Given the description of an element on the screen output the (x, y) to click on. 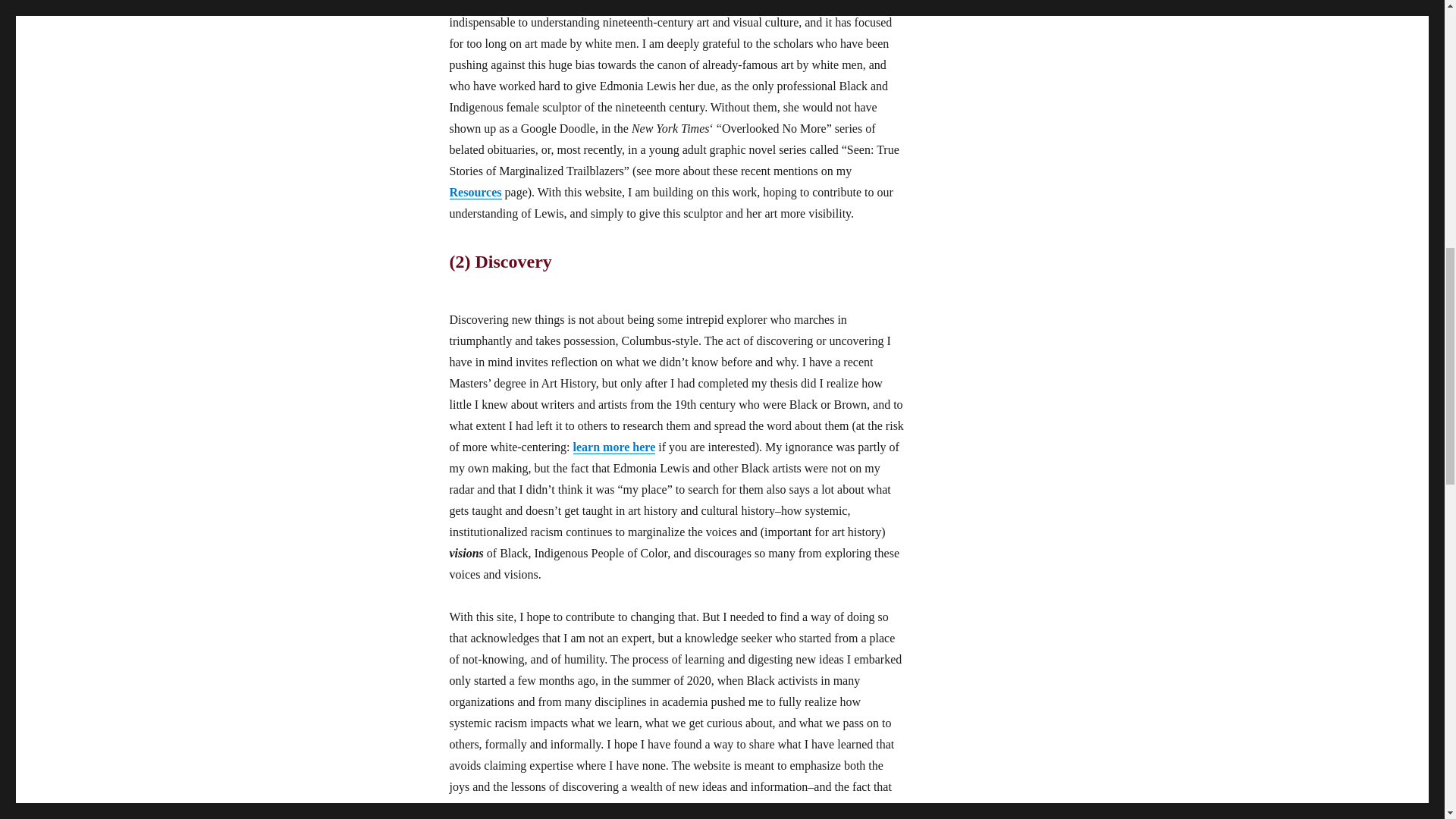
Resources (474, 192)
learn more here (614, 446)
